Given the description of an element on the screen output the (x, y) to click on. 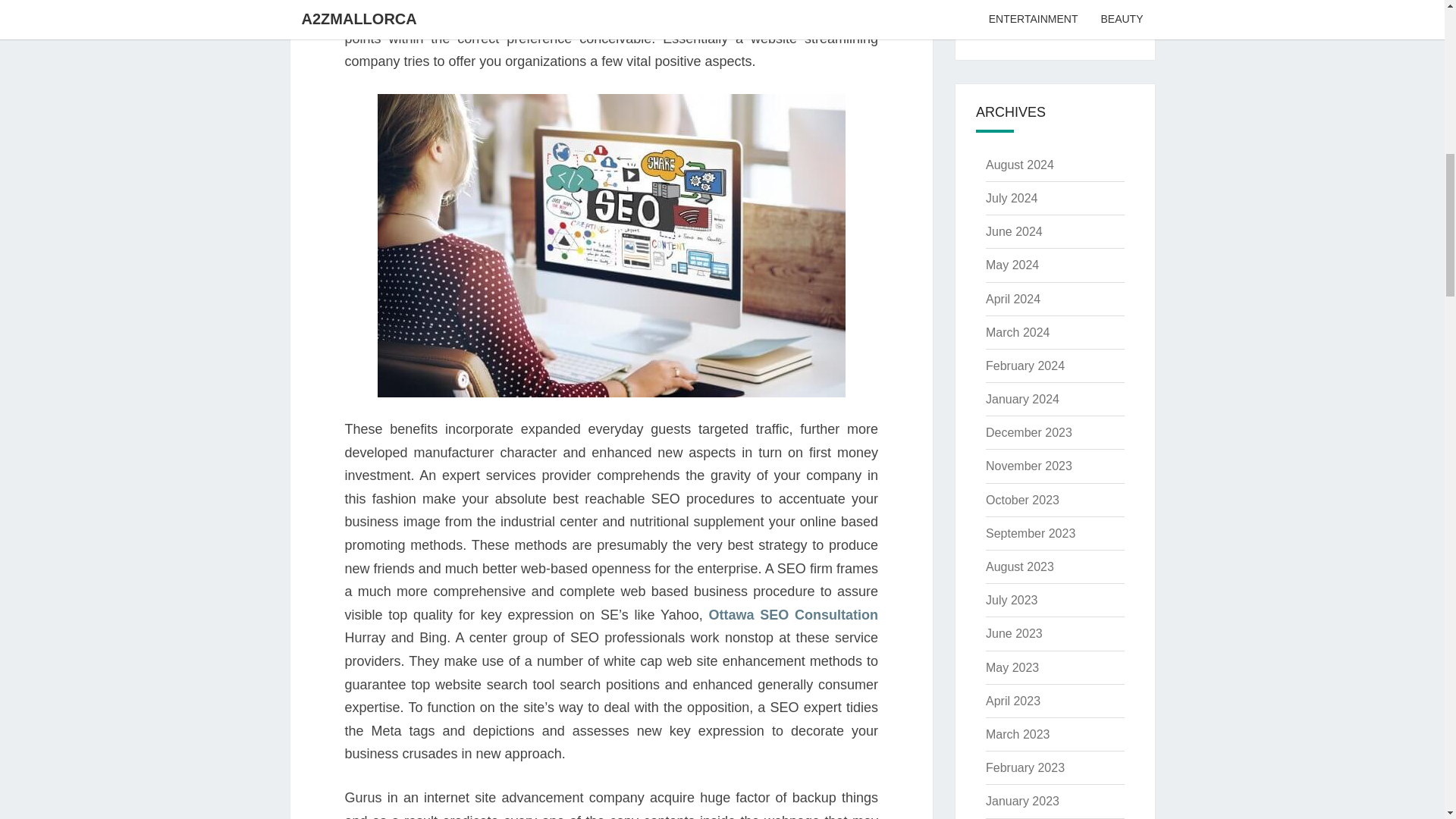
January 2024 (1022, 399)
October 2023 (1022, 499)
July 2023 (1011, 599)
June 2024 (1013, 231)
May 2024 (1012, 264)
February 2024 (1024, 365)
June 2023 (1013, 633)
Ottawa SEO Consultation (792, 614)
August 2023 (1019, 566)
February 2023 (1024, 767)
